Given the description of an element on the screen output the (x, y) to click on. 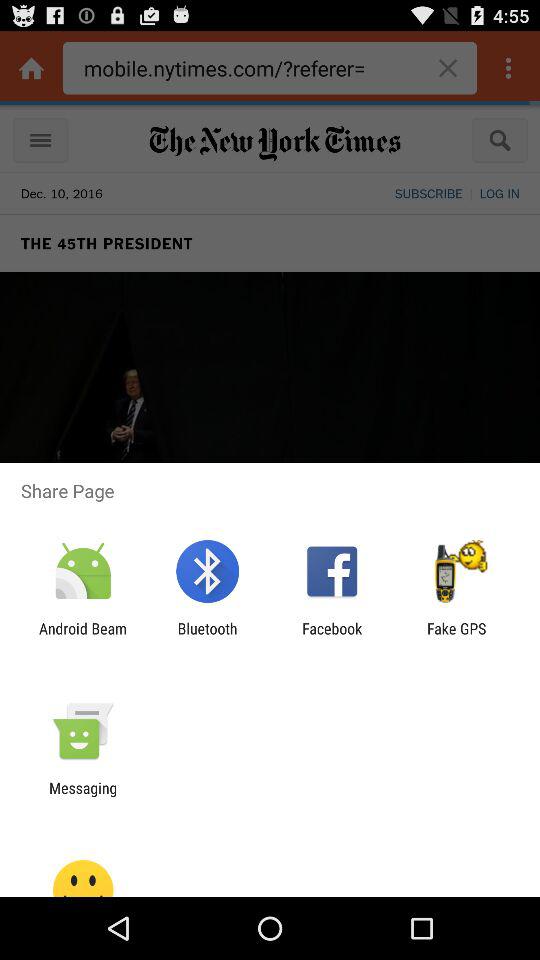
turn off the item next to the facebook icon (207, 637)
